Given the description of an element on the screen output the (x, y) to click on. 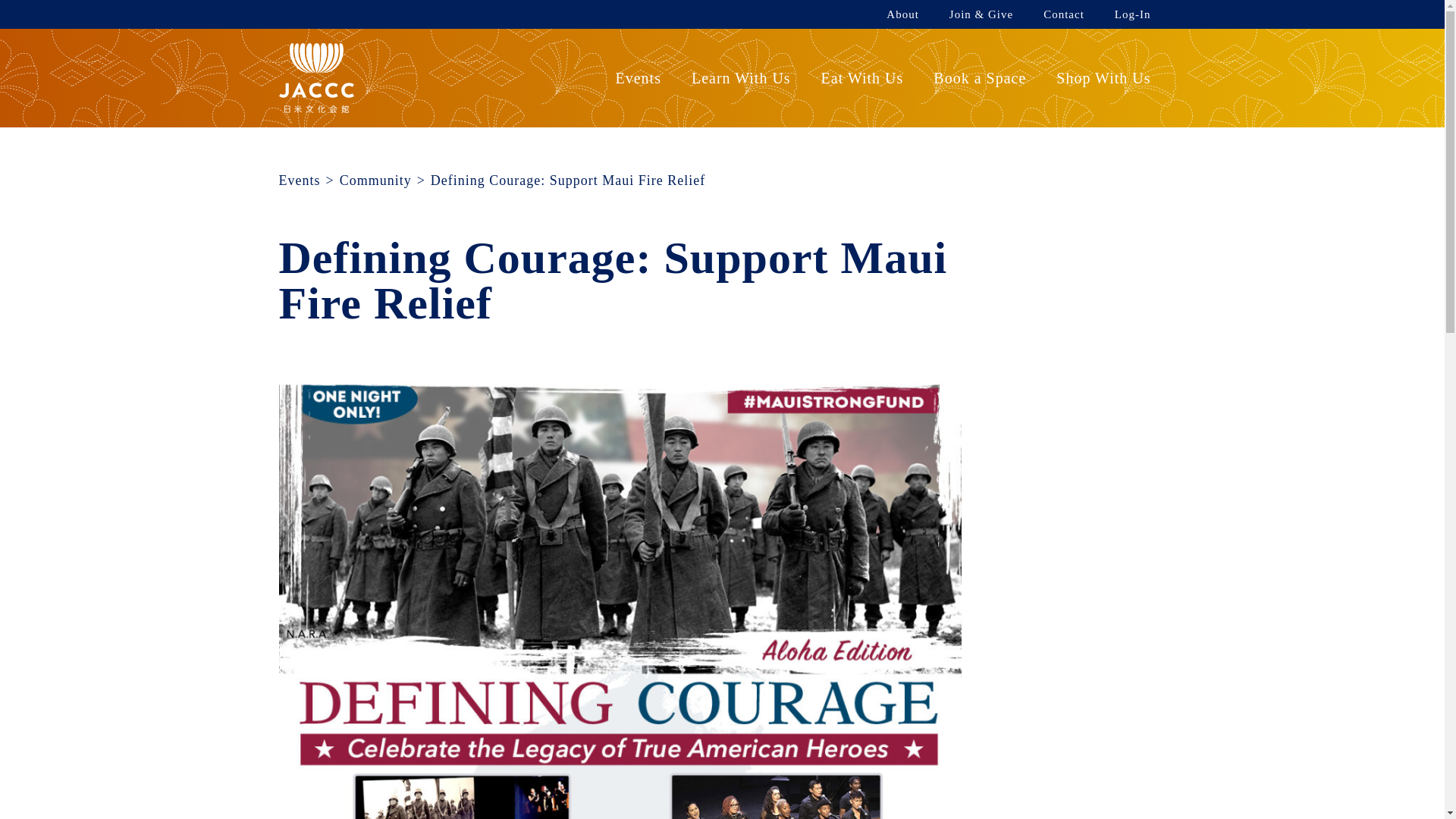
Contact (1063, 14)
Book a Space (979, 77)
About (902, 14)
Learn With Us (740, 77)
Shop With Us (1102, 77)
Events (637, 77)
Eat With Us (862, 77)
Events (299, 180)
Log-In (1132, 14)
Community (375, 180)
